Given the description of an element on the screen output the (x, y) to click on. 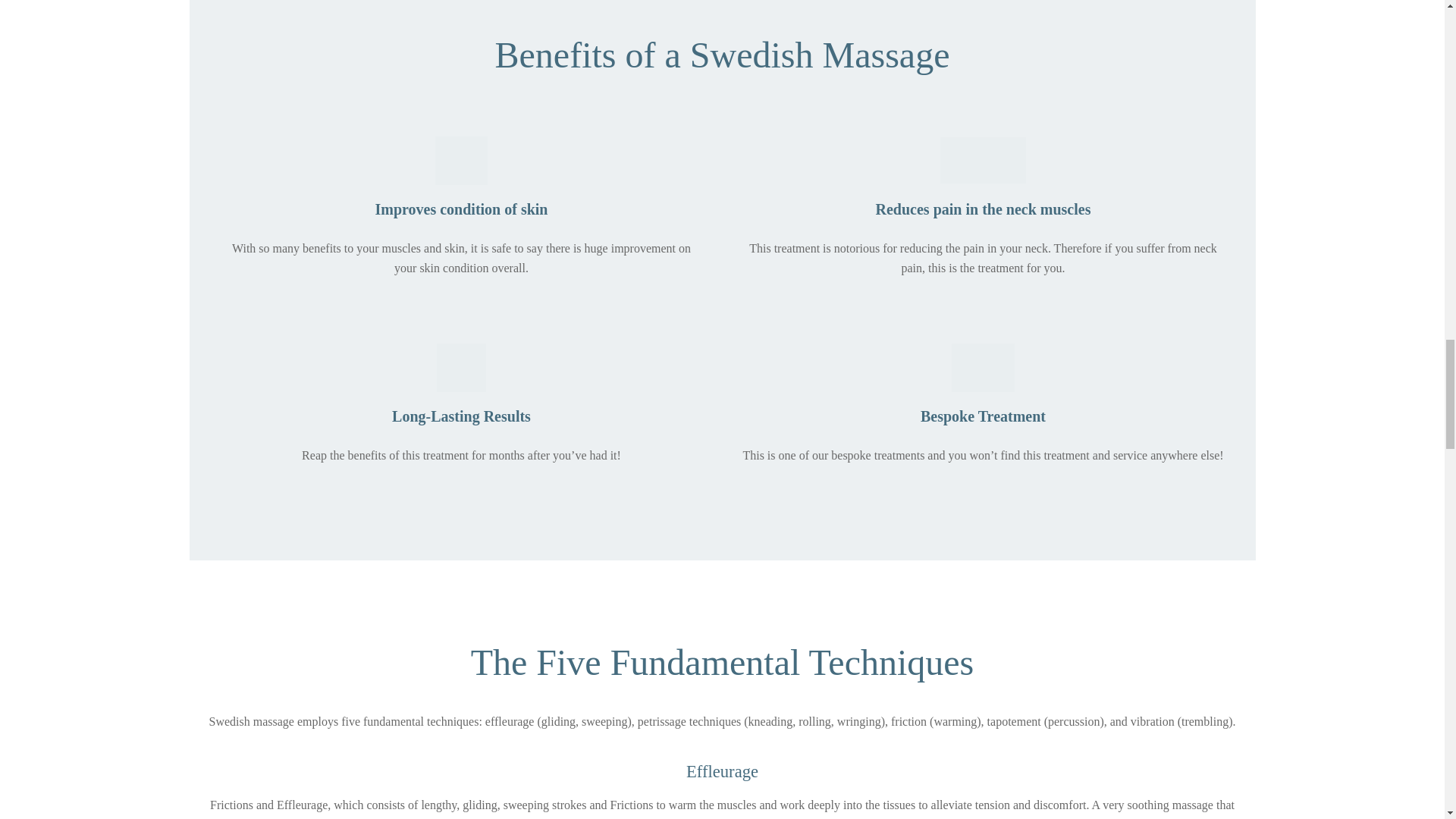
long-lasting-results-icon (460, 367)
skin-tone-muscle-tension-icon (983, 160)
quick-recovery-icon (461, 160)
